Given the description of an element on the screen output the (x, y) to click on. 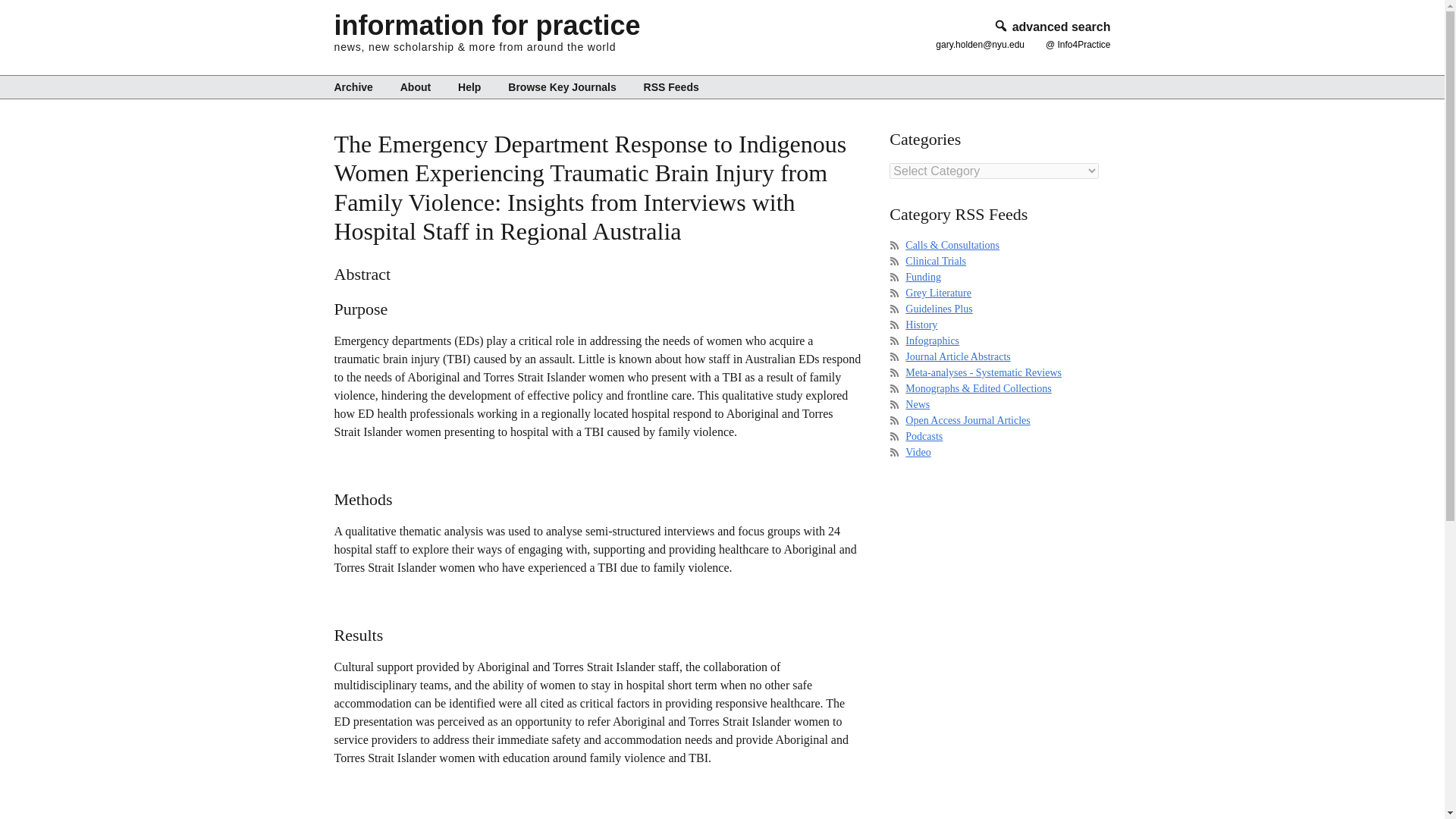
History (921, 324)
Open Access Journal Articles (967, 419)
Browse Key Journals (561, 87)
Journal Article Abstracts (957, 356)
Clinical Trials (935, 260)
About (415, 87)
Podcasts (923, 436)
Help (469, 87)
Meta-analyses - Systematic Reviews (983, 372)
advanced search (1050, 26)
Funding (922, 276)
Video (917, 451)
information for practice (486, 24)
Guidelines Plus (938, 308)
